Given the description of an element on the screen output the (x, y) to click on. 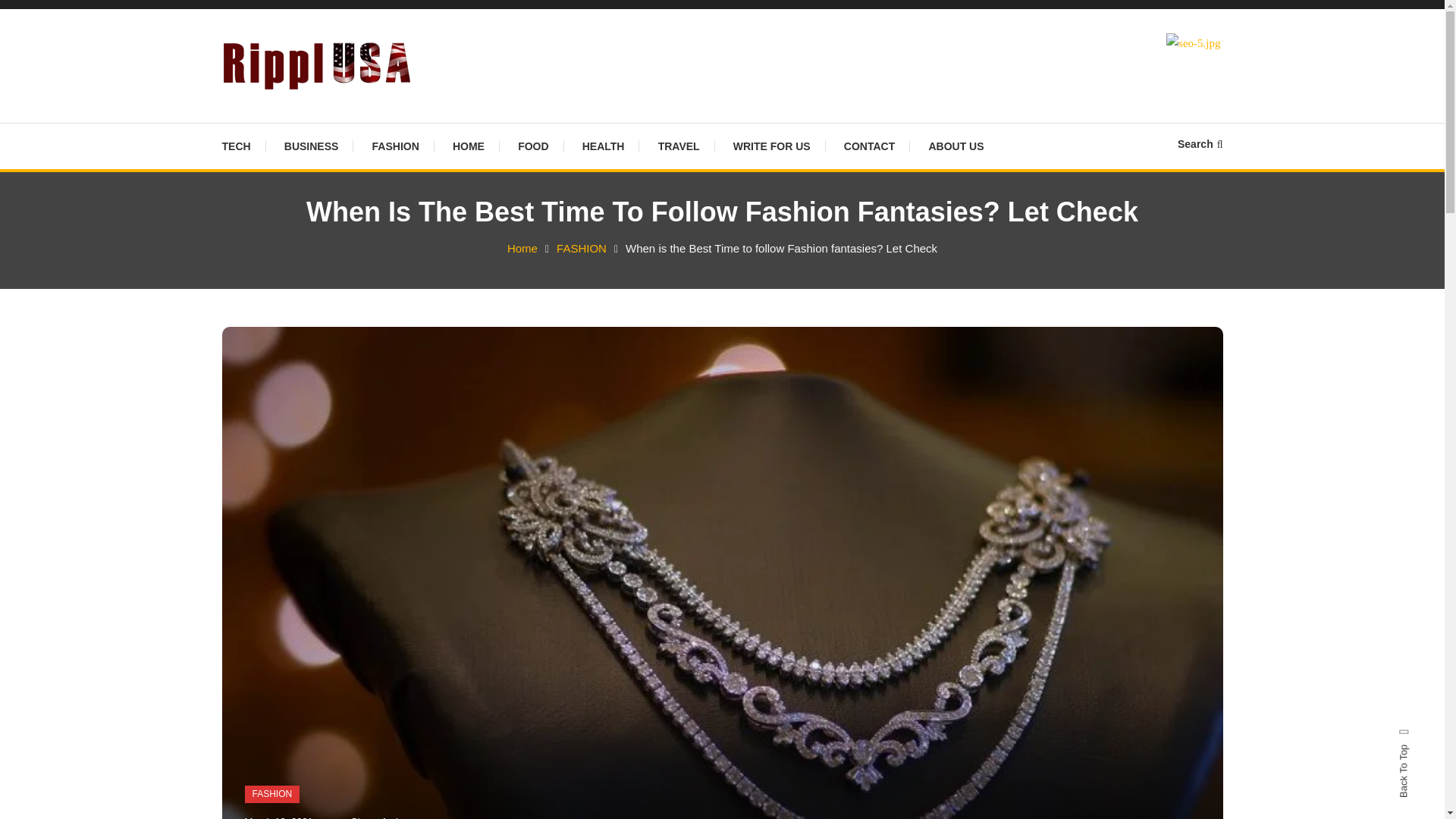
HOME (468, 145)
FASHION (271, 794)
March 13, 2021 (278, 817)
HEALTH (603, 145)
Home (521, 247)
Search (768, 432)
Rippl USA (288, 112)
FASHION (394, 145)
FASHION (581, 247)
TECH (242, 145)
TRAVEL (678, 145)
FOOD (532, 145)
WRITE FOR US (771, 145)
Simon Ambros (382, 817)
CONTACT (869, 145)
